Given the description of an element on the screen output the (x, y) to click on. 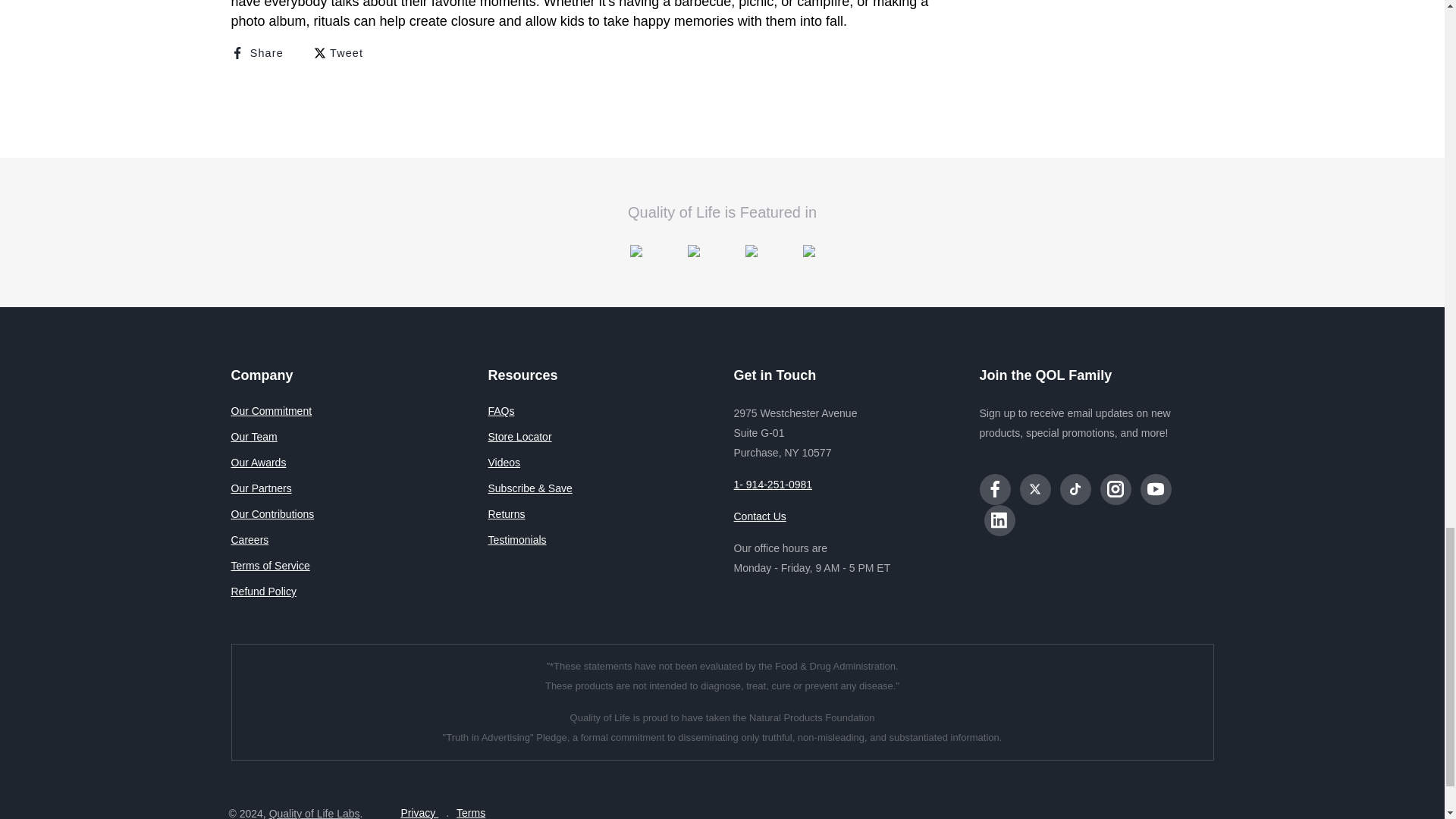
Contact (759, 516)
tel:1- 914-251-0981 (772, 484)
